Given the description of an element on the screen output the (x, y) to click on. 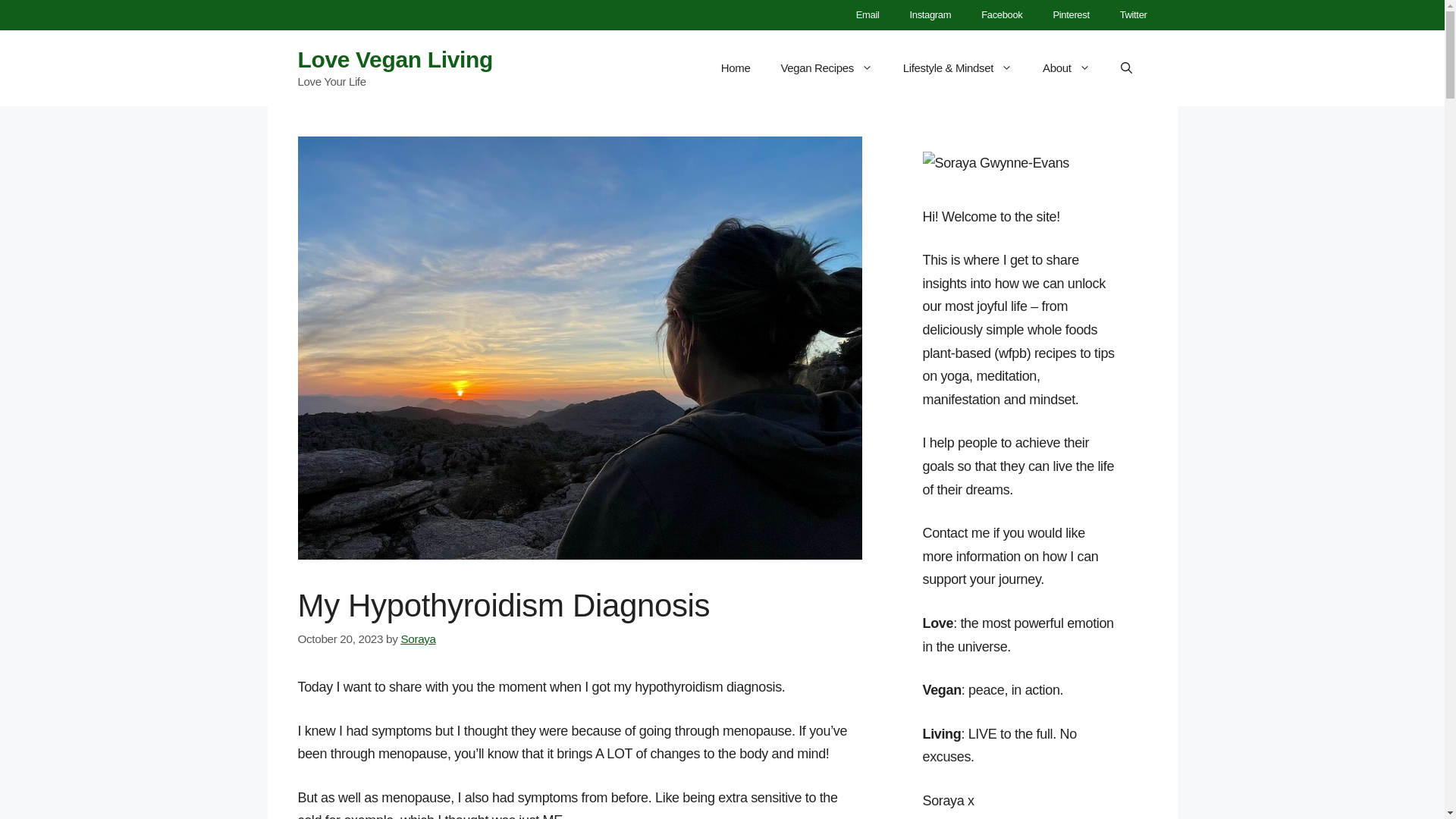
Love Vegan Living (394, 59)
Email (868, 15)
Twitter (1133, 15)
Soraya (417, 638)
Facebook (1001, 15)
Home (735, 67)
Vegan Recipes (825, 67)
About (1066, 67)
Instagram (930, 15)
Pinterest (1069, 15)
